Given the description of an element on the screen output the (x, y) to click on. 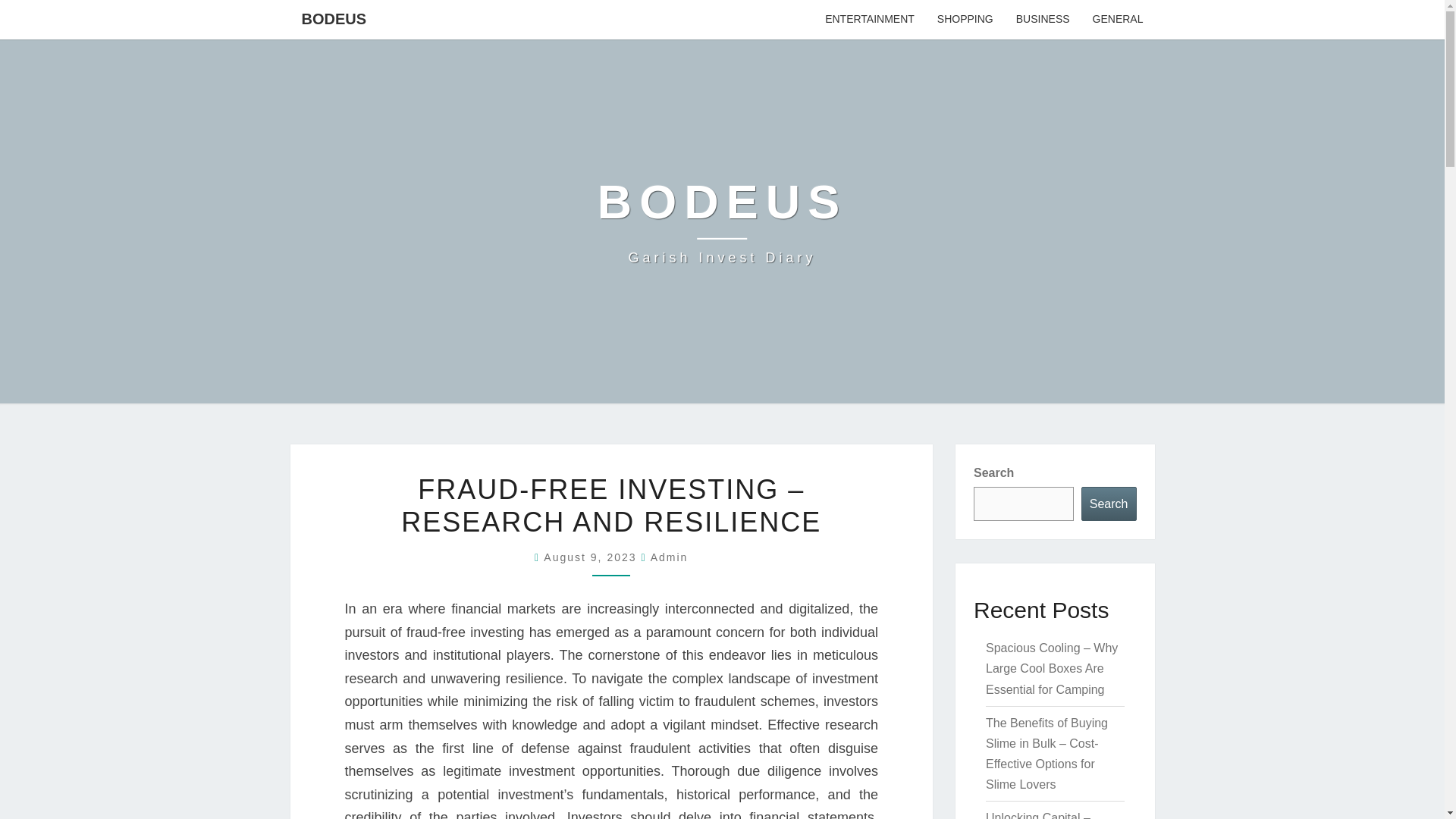
Bodeus (721, 221)
Search (1109, 503)
BUSINESS (721, 221)
ENTERTAINMENT (1042, 19)
SHOPPING (869, 19)
BODEUS (965, 19)
GENERAL (333, 18)
Admin (1117, 19)
View all posts by admin (669, 557)
August 9, 2023 (669, 557)
11:54 am (591, 557)
